Given the description of an element on the screen output the (x, y) to click on. 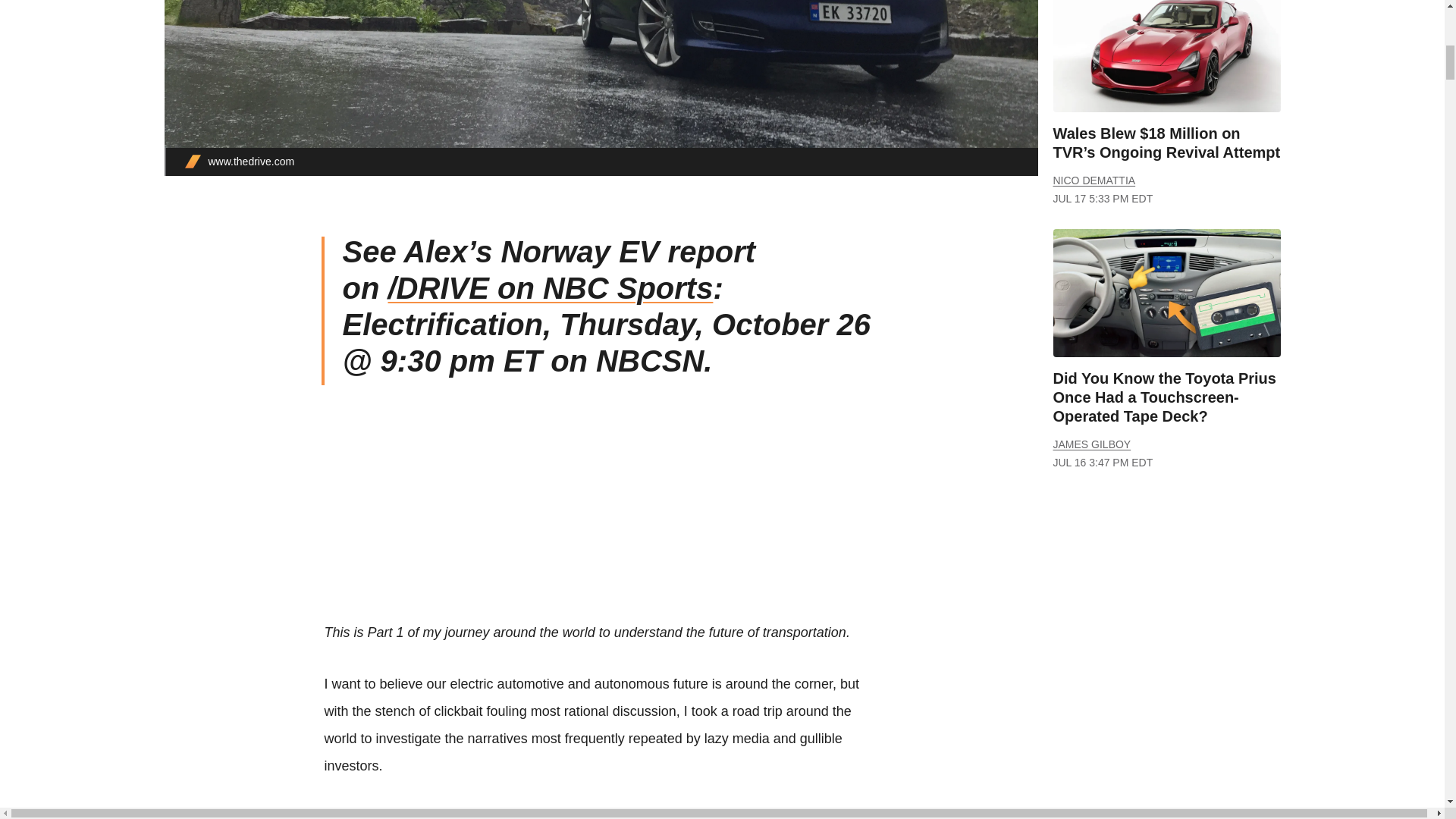
3rd party ad content (600, 512)
3rd party ad content (1165, 620)
